Given the description of an element on the screen output the (x, y) to click on. 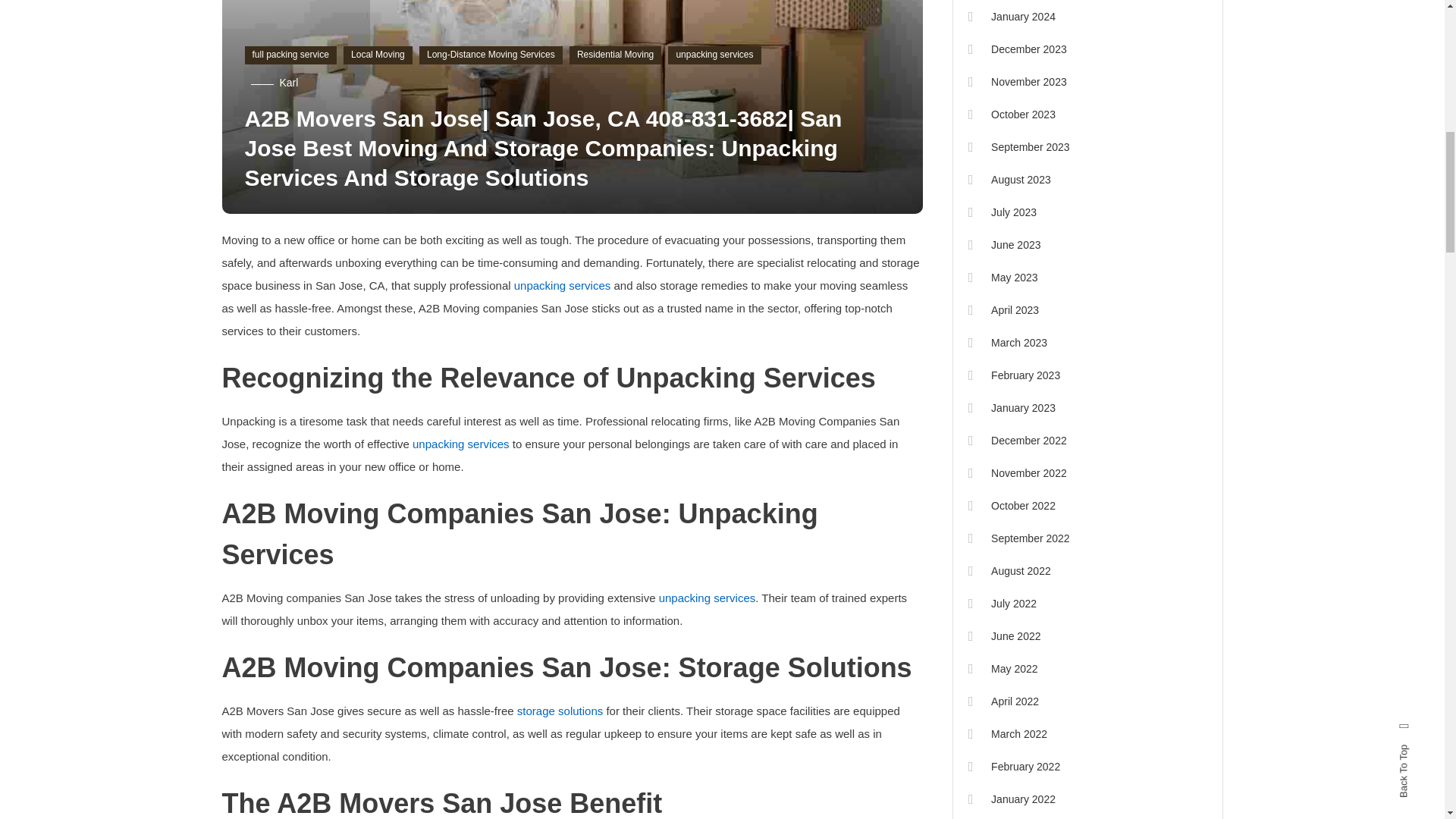
Long-Distance Moving Services (490, 54)
full packing service (290, 54)
Local Moving (377, 54)
